Given the description of an element on the screen output the (x, y) to click on. 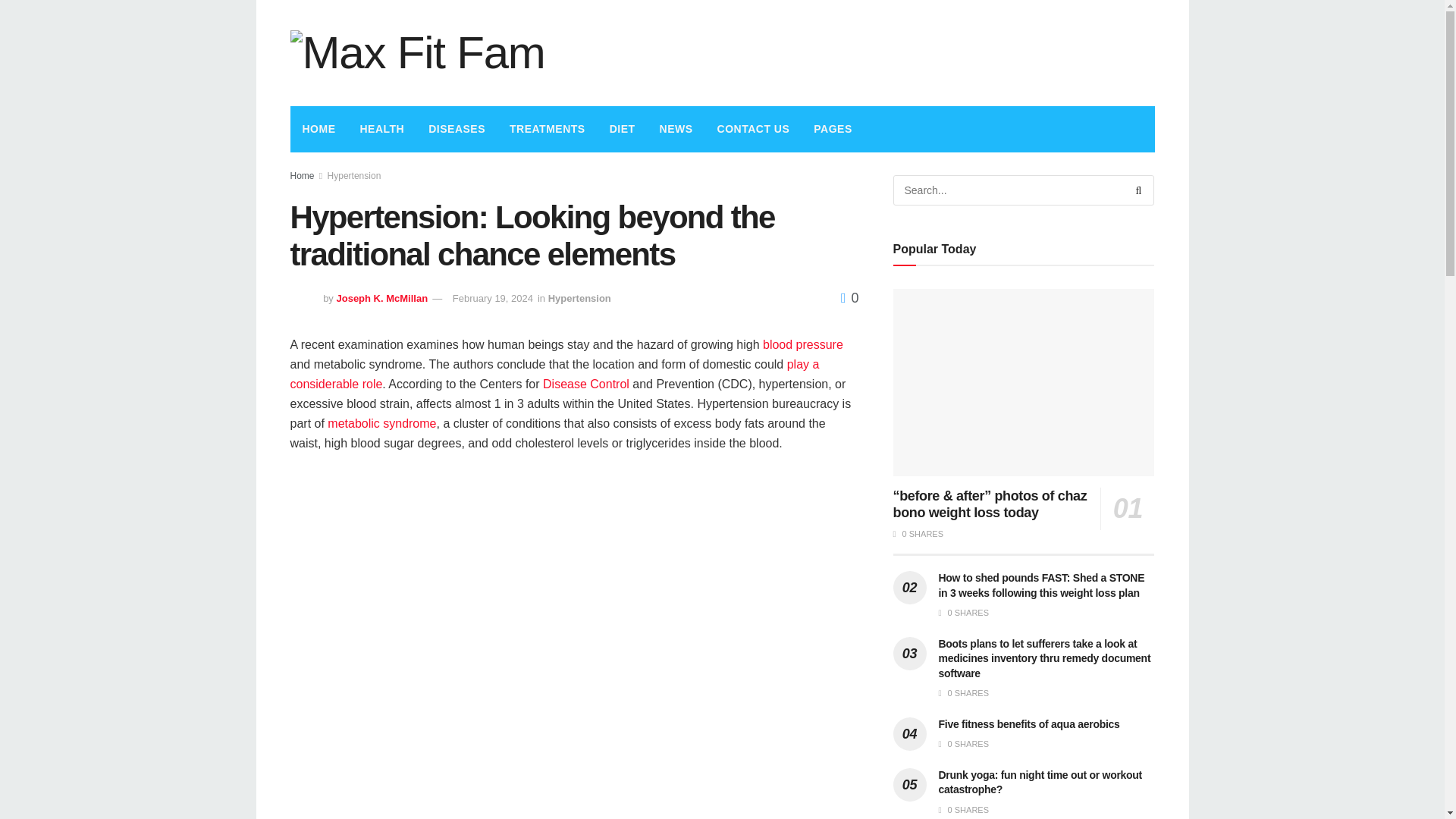
HEALTH (381, 129)
CONTACT US (753, 129)
DIET (621, 129)
TREATMENTS (546, 129)
HOME (318, 129)
DISEASES (456, 129)
PAGES (832, 129)
NEWS (675, 129)
